Given the description of an element on the screen output the (x, y) to click on. 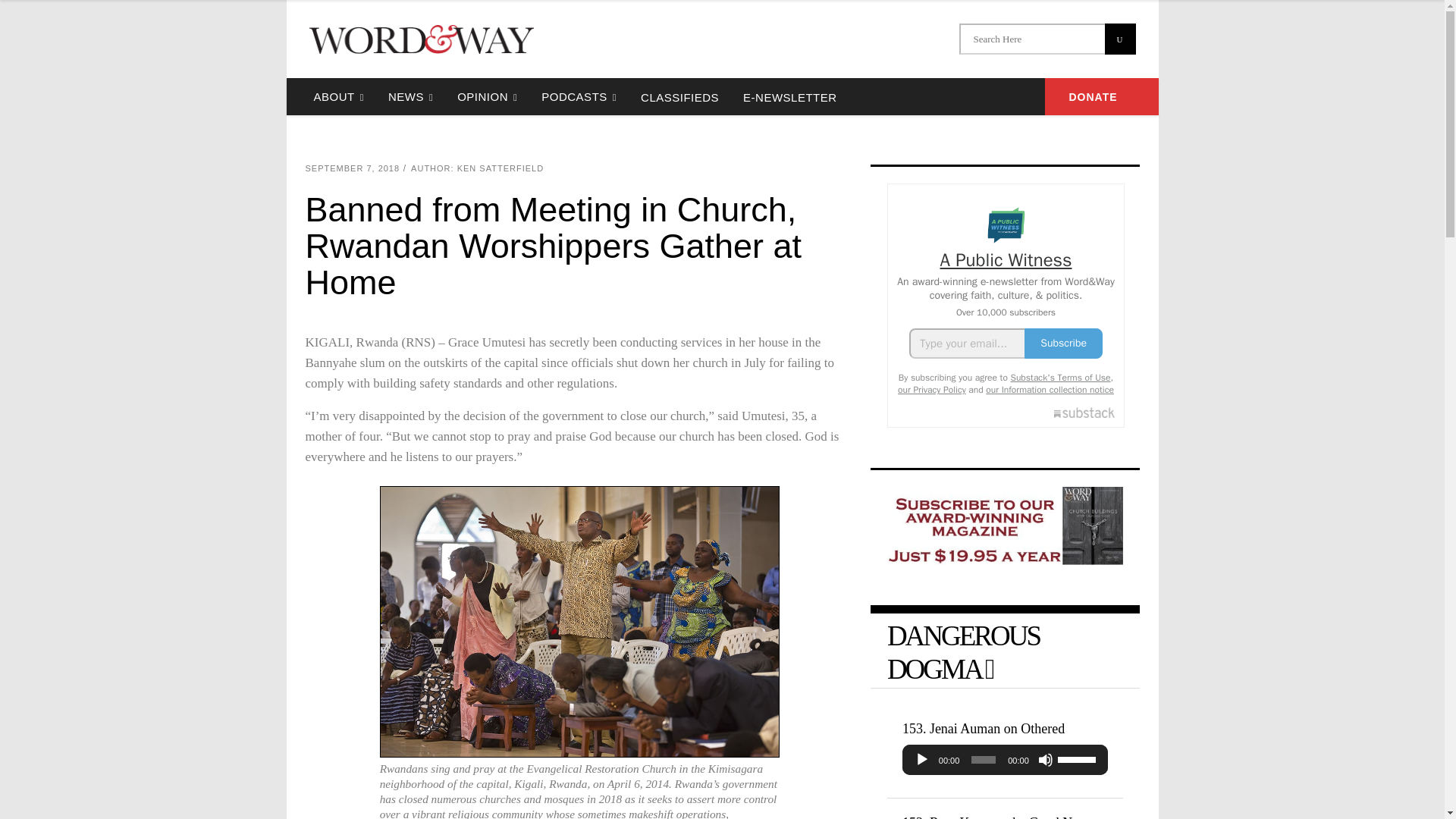
DONATE (1101, 96)
NEWS (410, 96)
U (1119, 38)
Play (922, 759)
OPINION (487, 96)
E-NEWSLETTER (789, 96)
PODCASTS (578, 96)
U (1119, 38)
Mute (1045, 759)
ABOUT (338, 96)
U (1119, 38)
CLASSIFIEDS (679, 96)
